Given the description of an element on the screen output the (x, y) to click on. 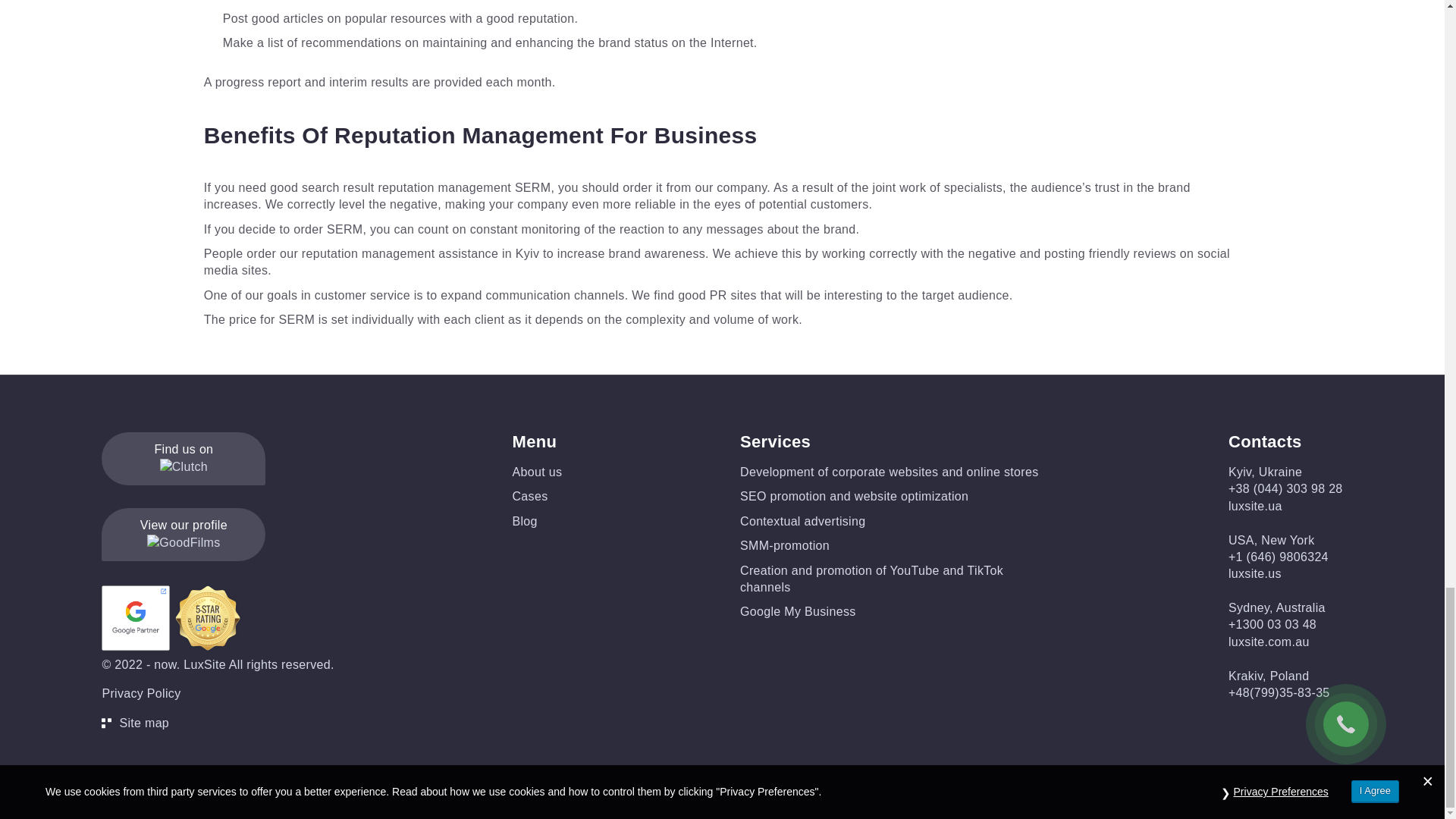
Google My Business (797, 611)
Blog (524, 521)
SEO promotion and website optimization (853, 495)
About us (537, 472)
Creation and promotion of YouTube and TikTok channels (871, 578)
Privacy Policy (140, 693)
Cases (530, 495)
Site map (217, 723)
Development of corporate websites and online stores (888, 472)
Find us on (182, 458)
SMM-promotion (784, 545)
View our profile (182, 534)
